Given the description of an element on the screen output the (x, y) to click on. 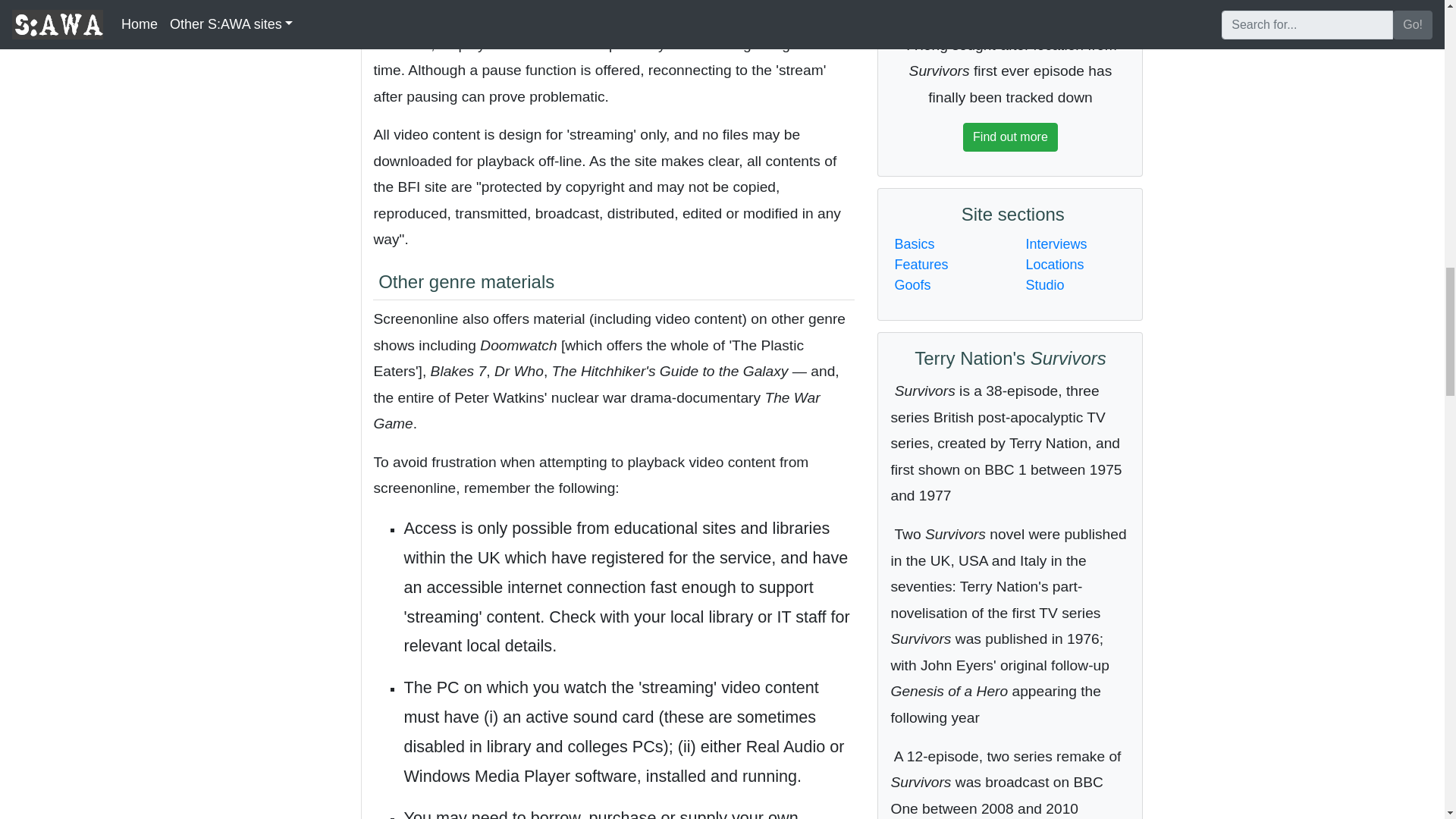
Find out more (1010, 136)
Features (920, 264)
Basics (913, 243)
Studio (1044, 284)
Interviews (1055, 243)
Locations (1054, 264)
Goofs (911, 284)
